Given the description of an element on the screen output the (x, y) to click on. 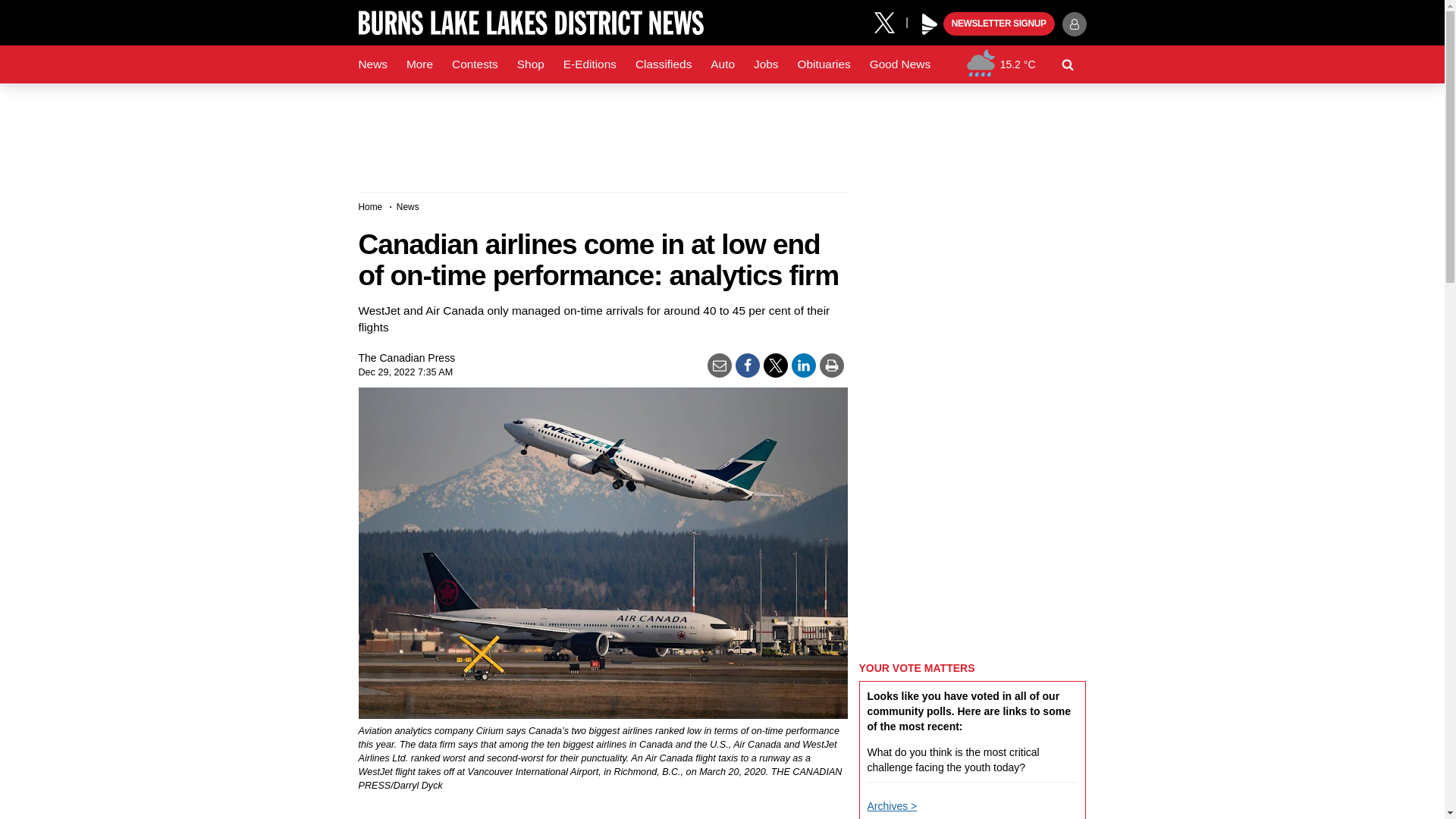
NEWSLETTER SIGNUP (998, 24)
X (889, 21)
Play (929, 24)
Black Press Media (929, 24)
3rd party ad content (721, 131)
News (372, 64)
